Given the description of an element on the screen output the (x, y) to click on. 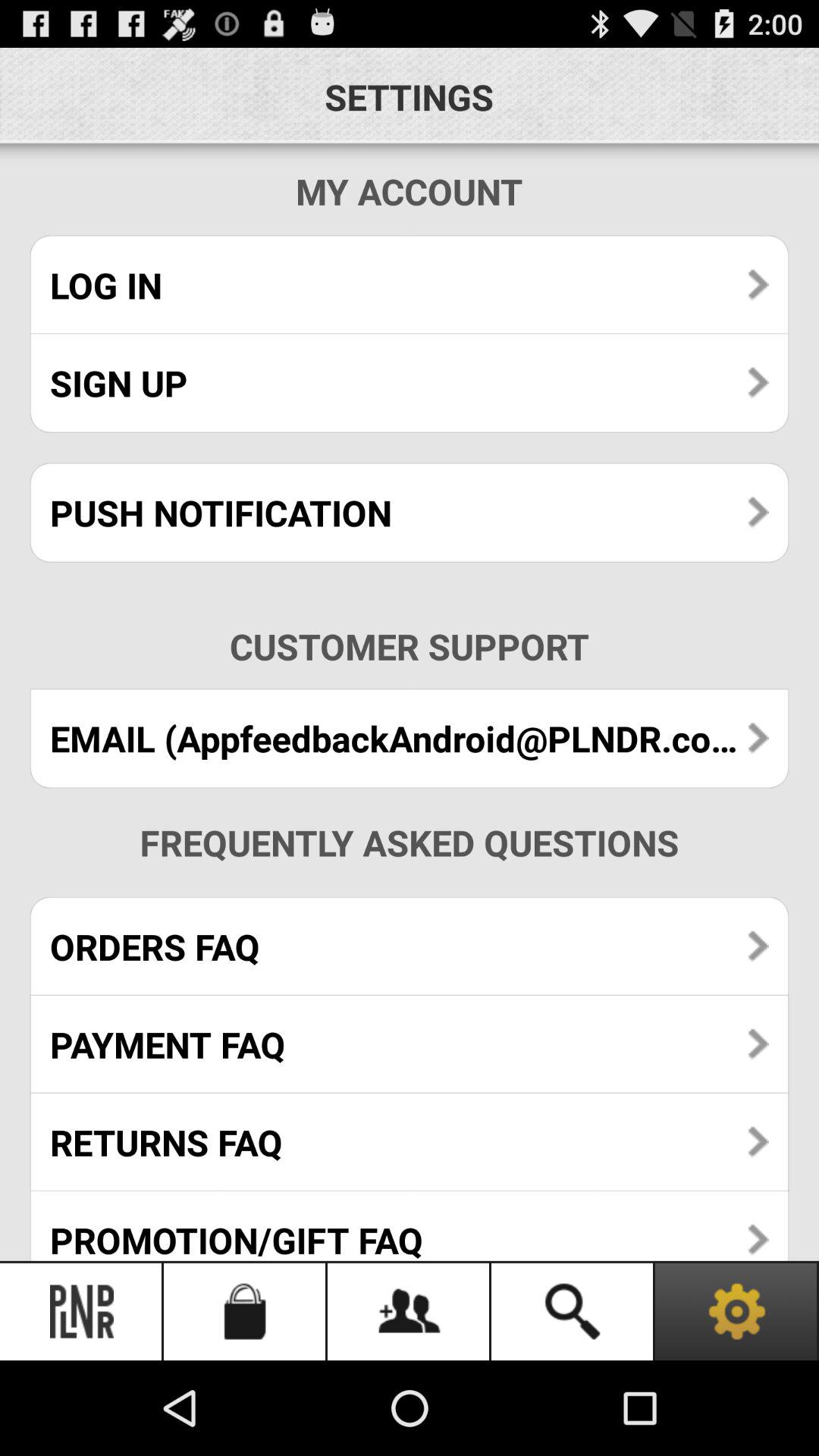
select item below the my account (409, 284)
